Given the description of an element on the screen output the (x, y) to click on. 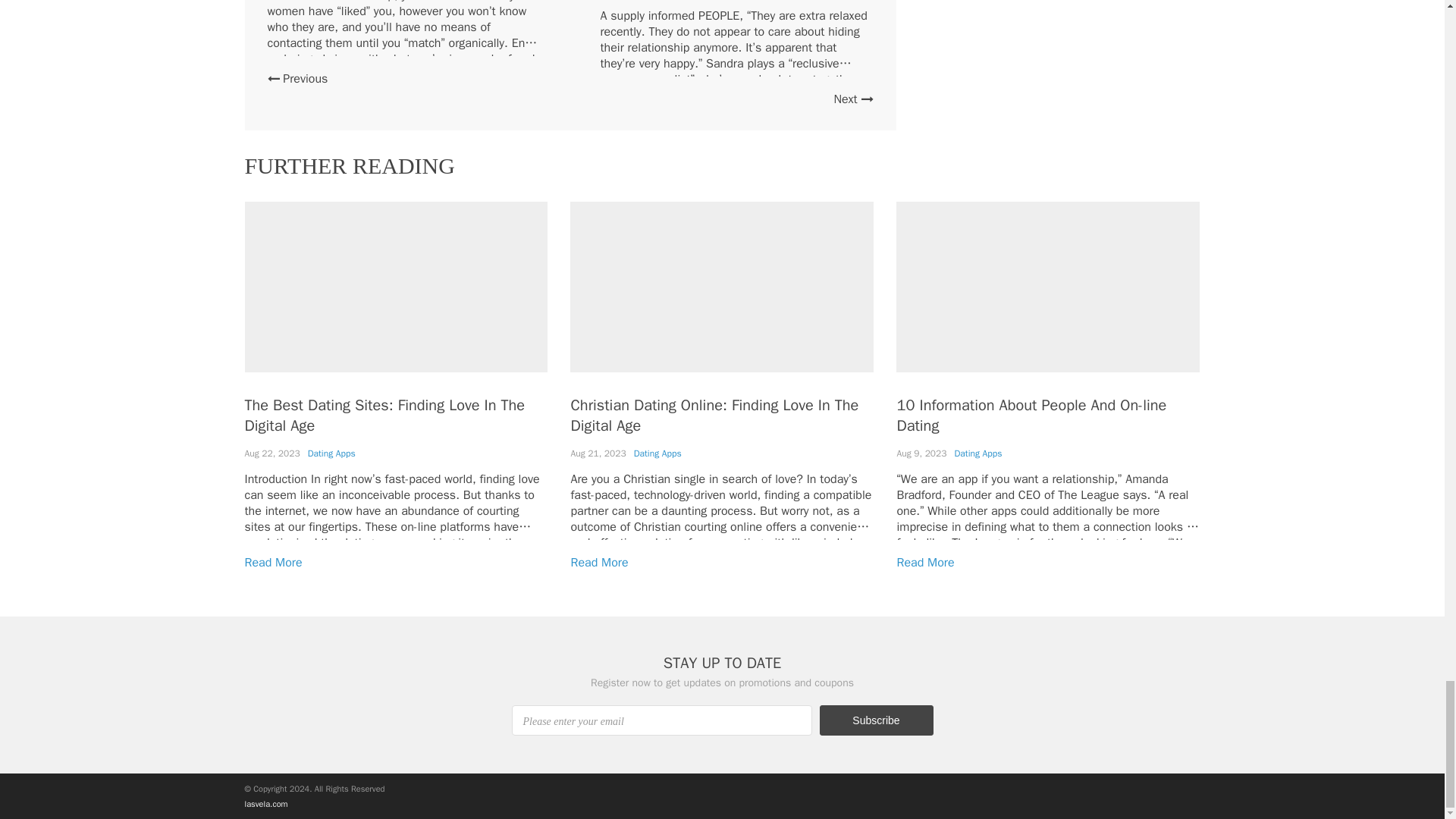
Subscribe (875, 720)
